Given the description of an element on the screen output the (x, y) to click on. 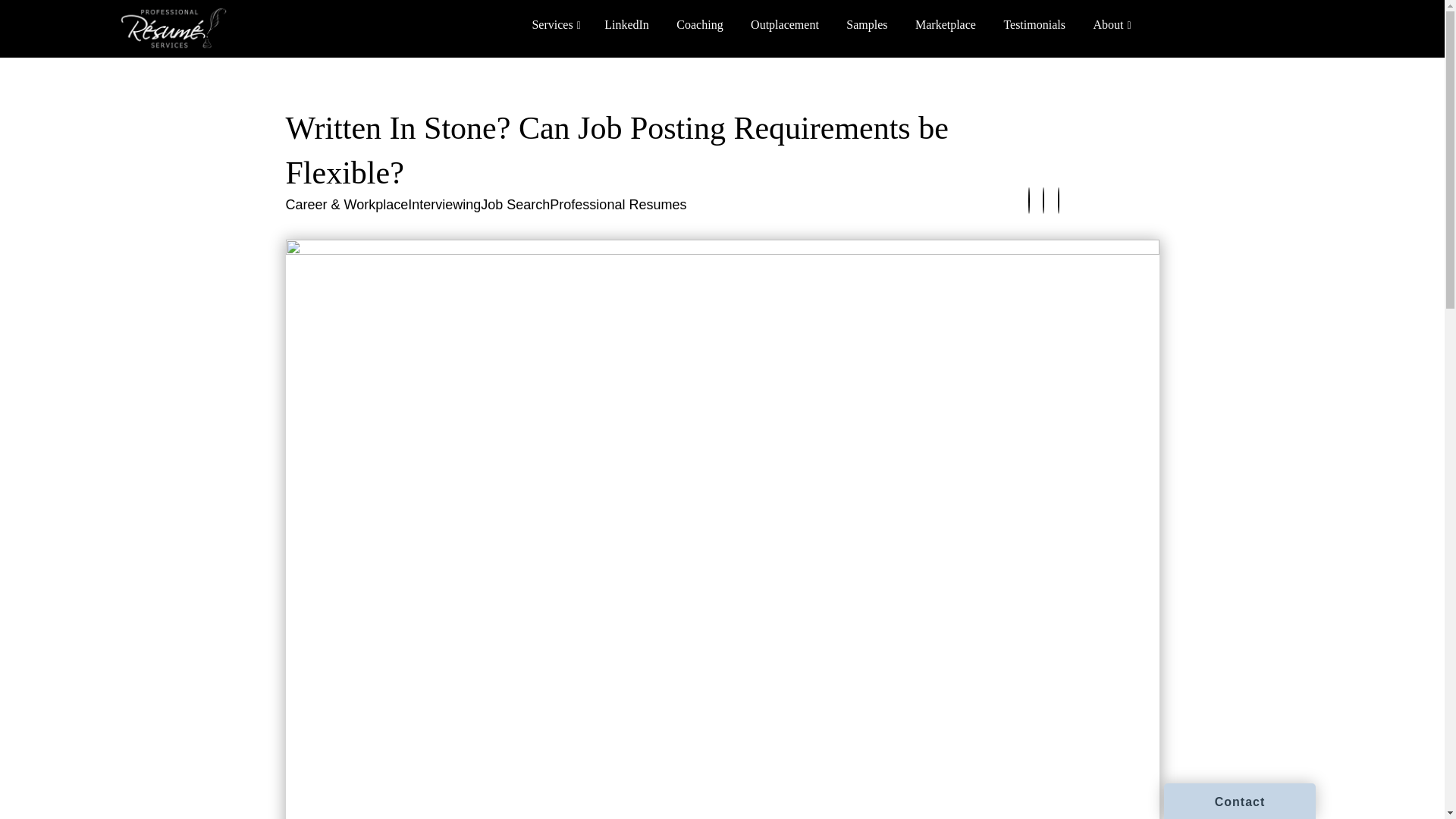
Outplacement (784, 24)
Services (553, 24)
LinkedIn (626, 24)
Coaching (699, 24)
